Given the description of an element on the screen output the (x, y) to click on. 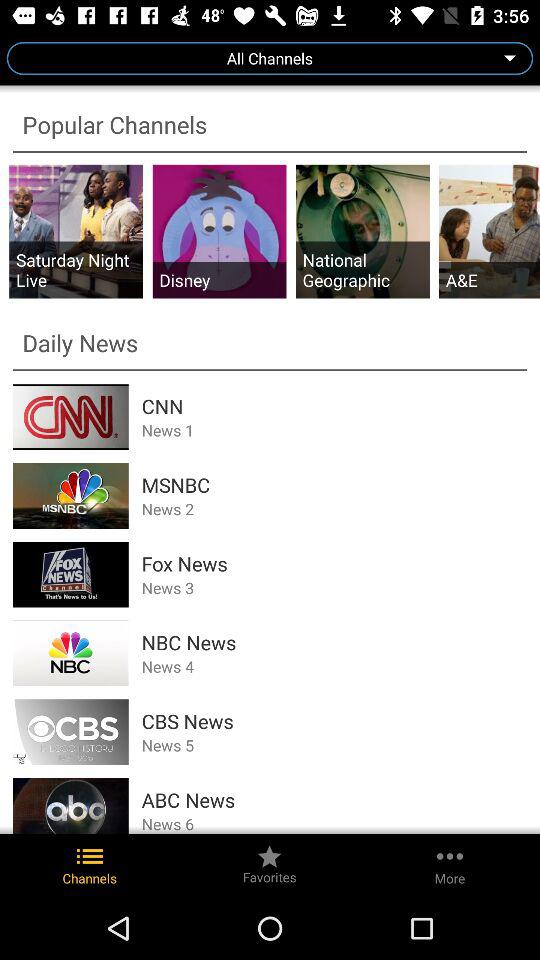
open icon above   daily news item (362, 269)
